Given the description of an element on the screen output the (x, y) to click on. 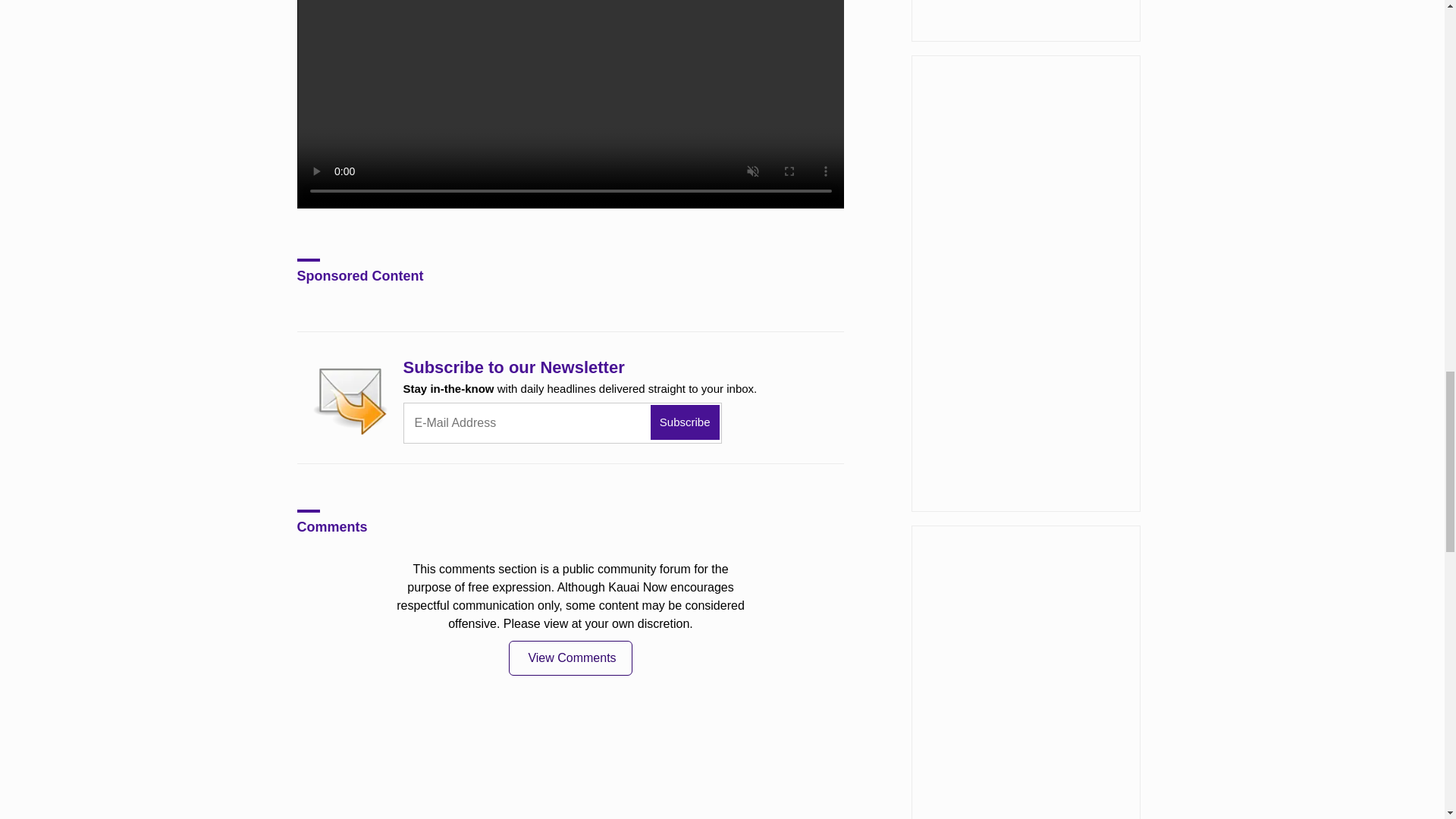
Subscribe (684, 422)
3rd party ad content (1025, 20)
